Given the description of an element on the screen output the (x, y) to click on. 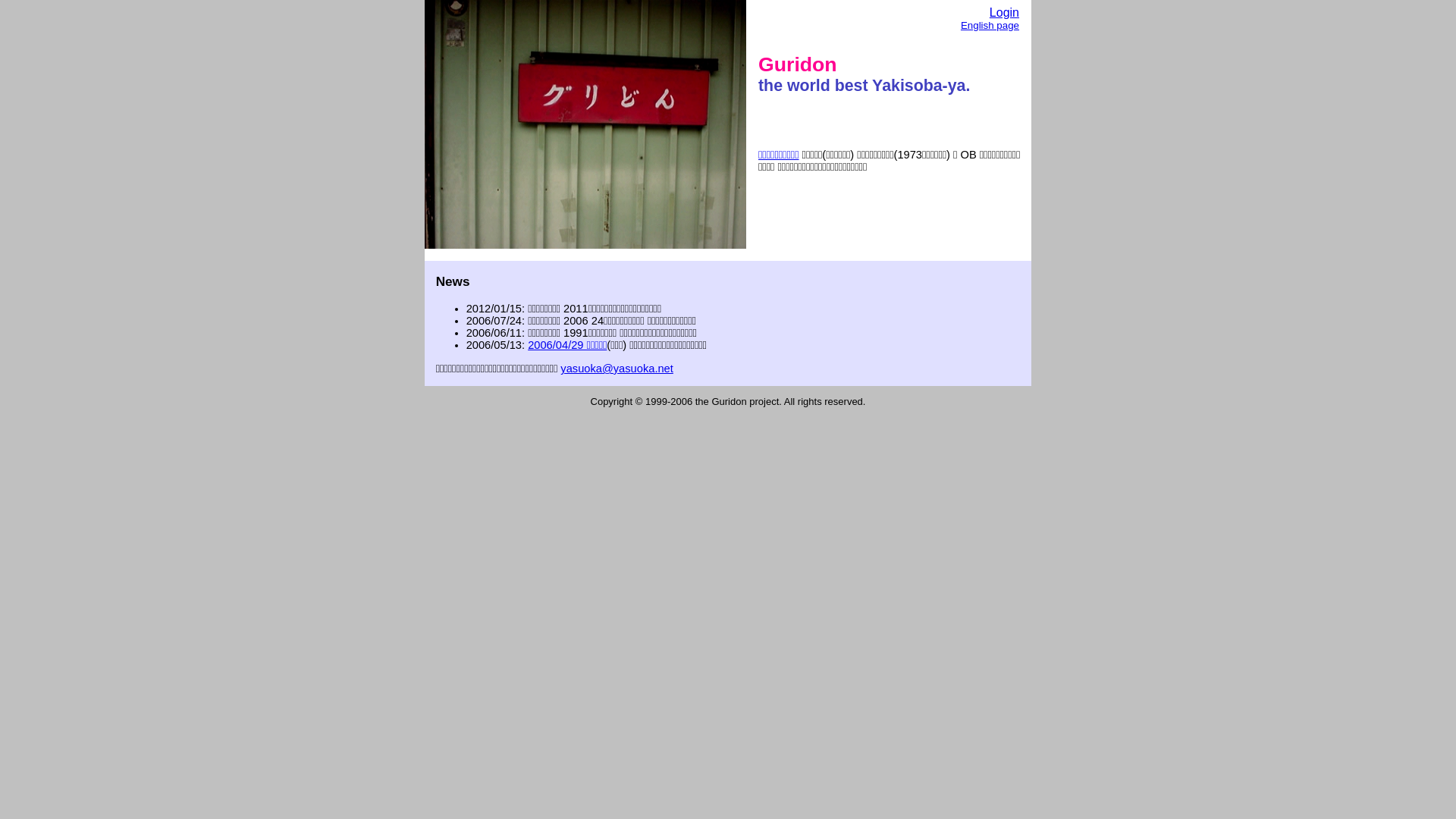
yasuoka@yasuoka.net Element type: text (616, 368)
Login Element type: text (1004, 12)
English page Element type: text (989, 25)
